Given the description of an element on the screen output the (x, y) to click on. 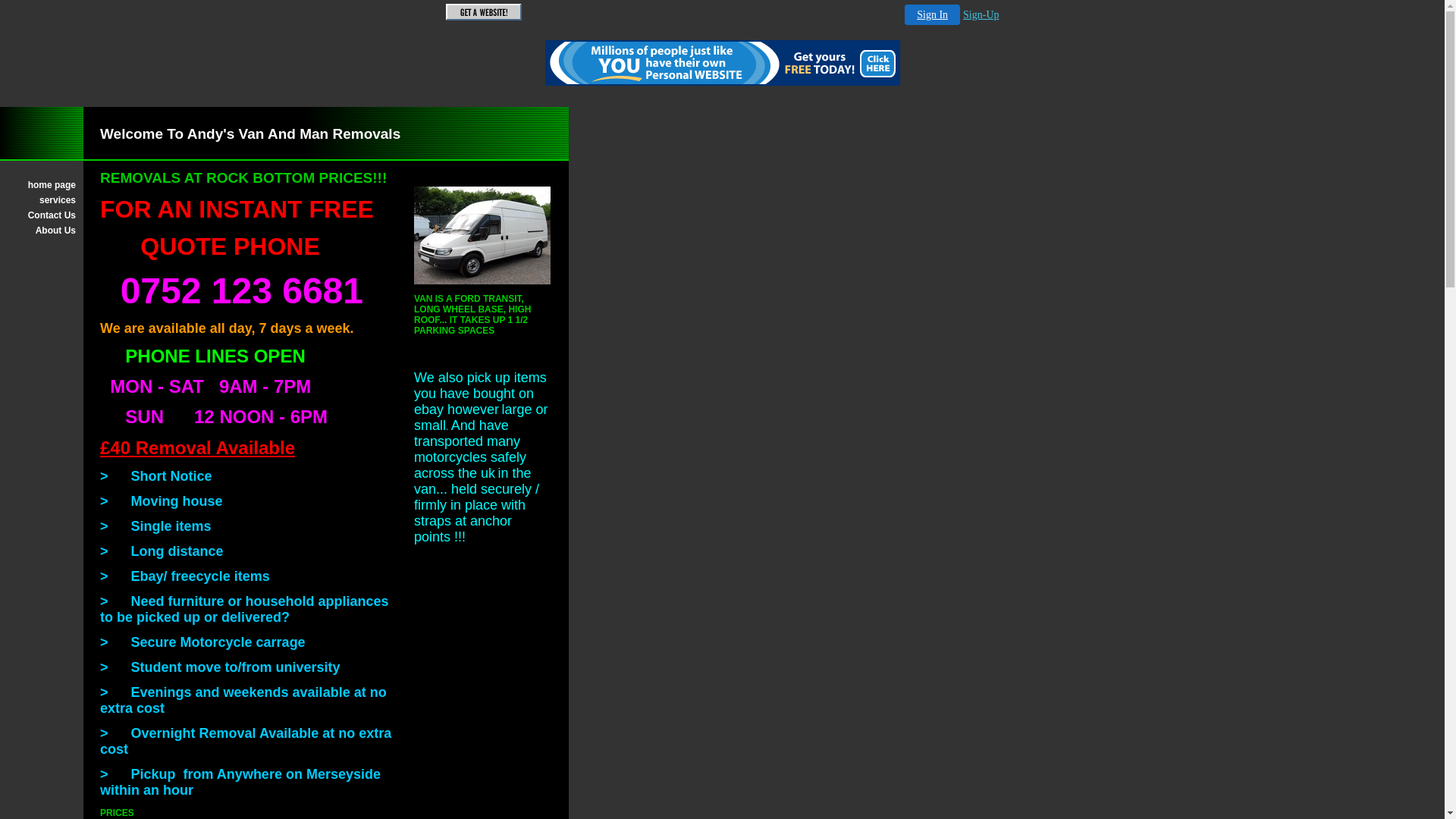
About Us Element type: text (41, 230)
Sign-Up Element type: text (980, 14)
Sign In Element type: text (932, 14)
Contact Us Element type: text (41, 214)
home page Element type: text (41, 184)
services Element type: text (41, 199)
